Given the description of an element on the screen output the (x, y) to click on. 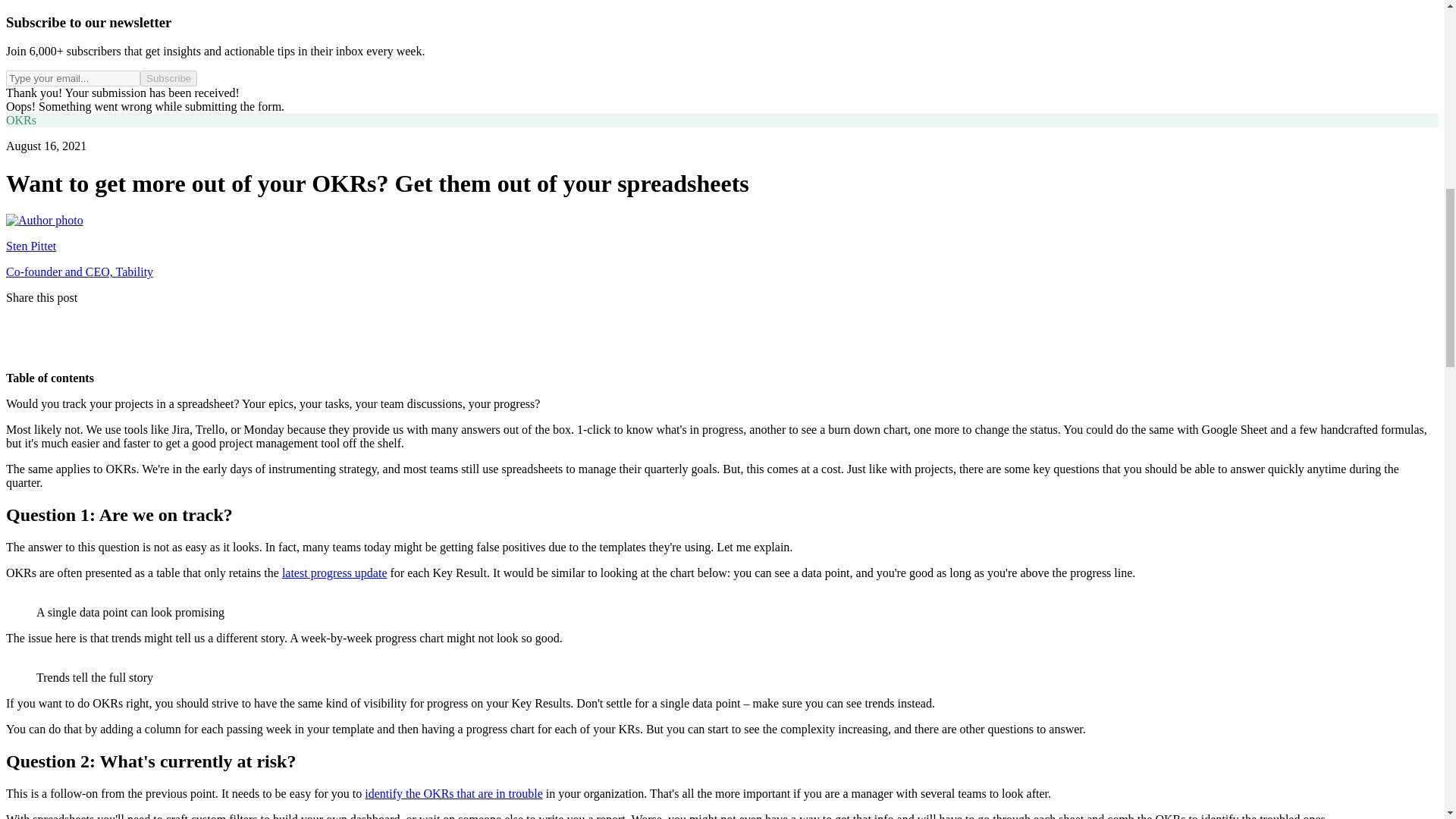
identify the OKRs that are in trouble (454, 793)
Subscribe (167, 78)
Subscribe (167, 78)
latest progress update (334, 572)
